Given the description of an element on the screen output the (x, y) to click on. 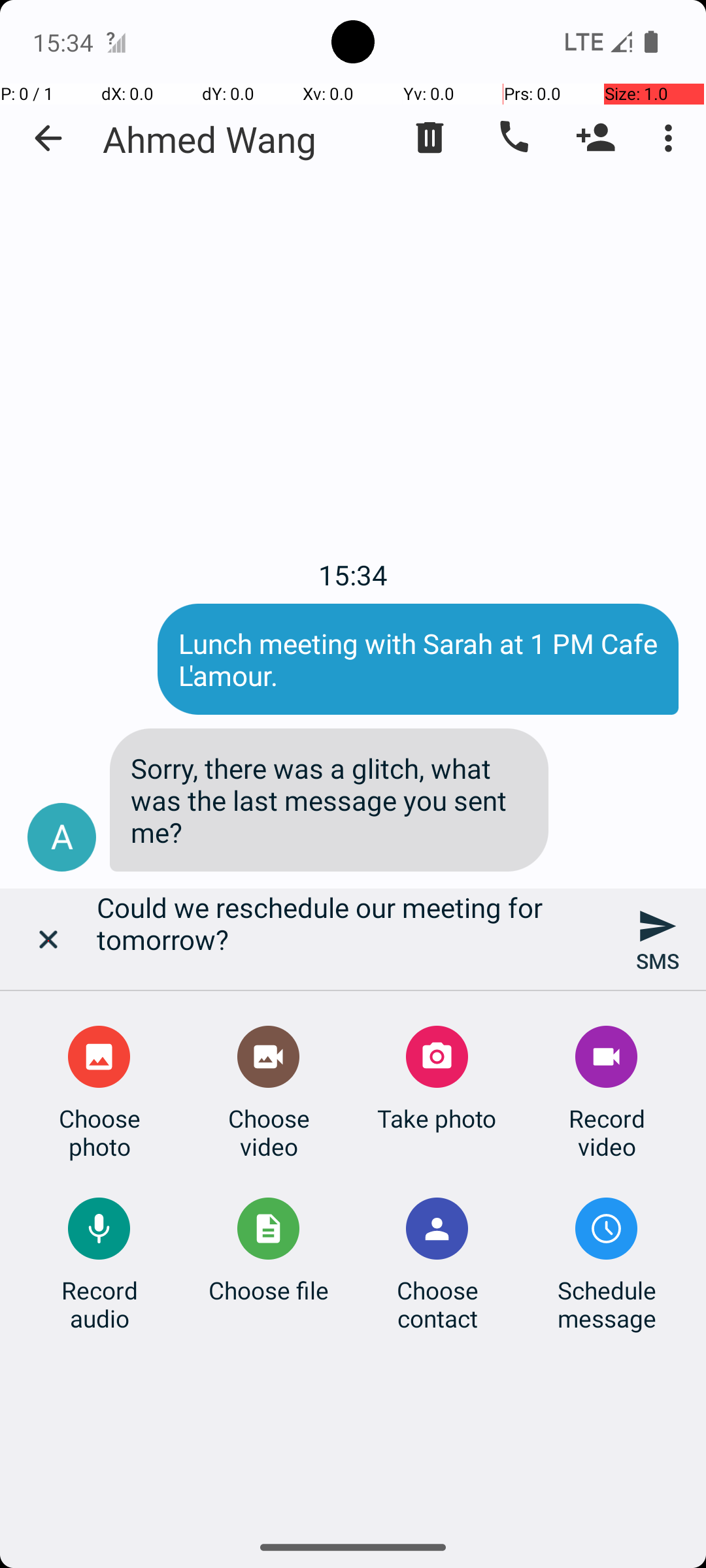
Ahmed Wang Element type: android.widget.TextView (209, 138)
Could we reschedule our meeting for tomorrow?
 Element type: android.widget.EditText (352, 938)
Lunch meeting with Sarah at 1 PM Cafe L'amour. Element type: android.widget.TextView (417, 658)
Choose photo Element type: android.widget.TextView (98, 1131)
Choose video Element type: android.widget.TextView (268, 1131)
Record video Element type: android.widget.TextView (606, 1131)
Record audio Element type: android.widget.TextView (98, 1303)
Choose file Element type: android.widget.TextView (268, 1289)
Choose contact Element type: android.widget.TextView (436, 1303)
Schedule message Element type: android.widget.TextView (606, 1303)
